Given the description of an element on the screen output the (x, y) to click on. 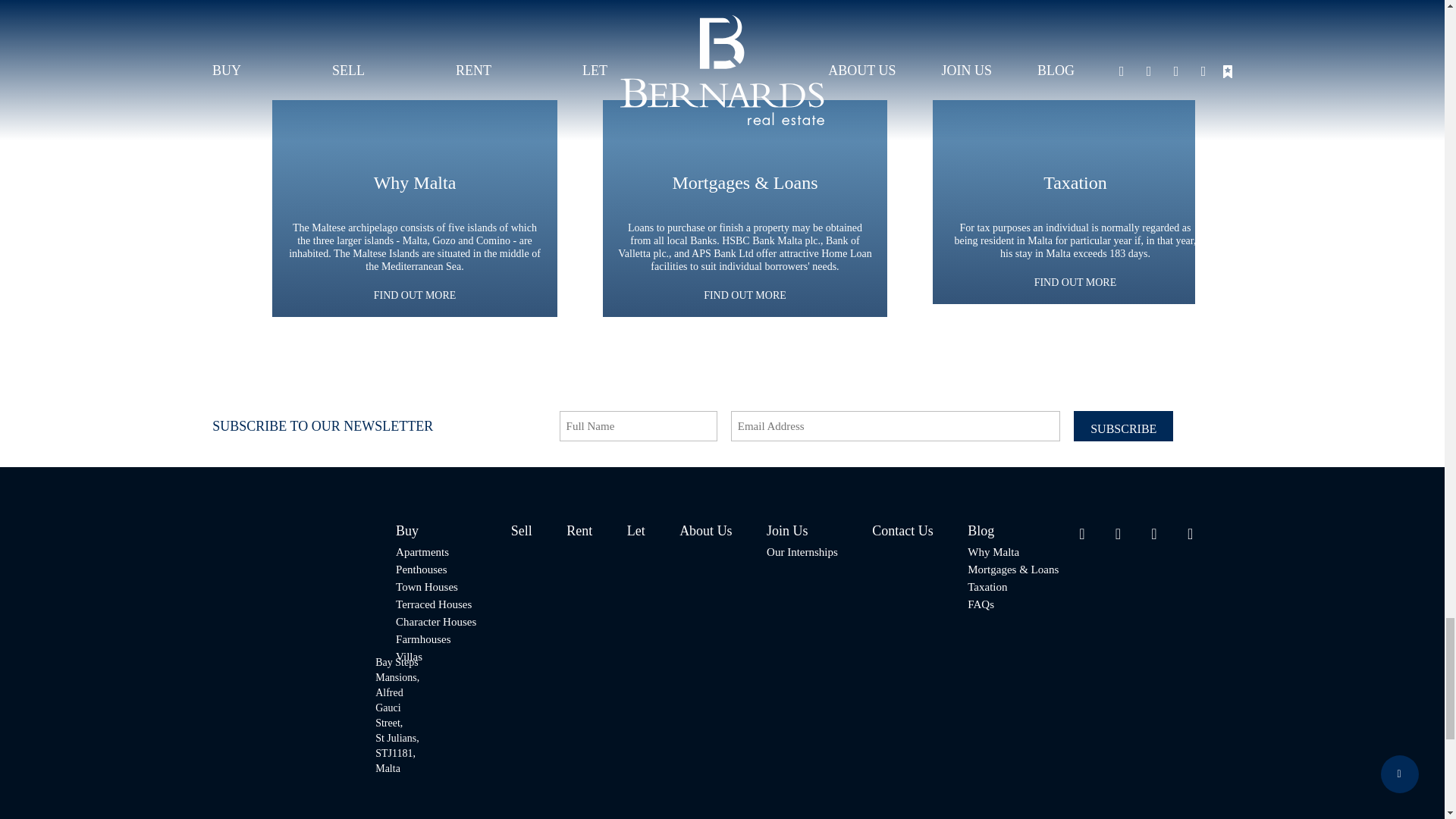
Penthouses (436, 569)
FIND OUT MORE (744, 295)
Apartments (436, 552)
Buy (436, 530)
FIND OUT MORE (415, 295)
SUBSCRIBE (1123, 426)
FIND OUT MORE (1074, 282)
Town Houses (436, 586)
